Given the description of an element on the screen output the (x, y) to click on. 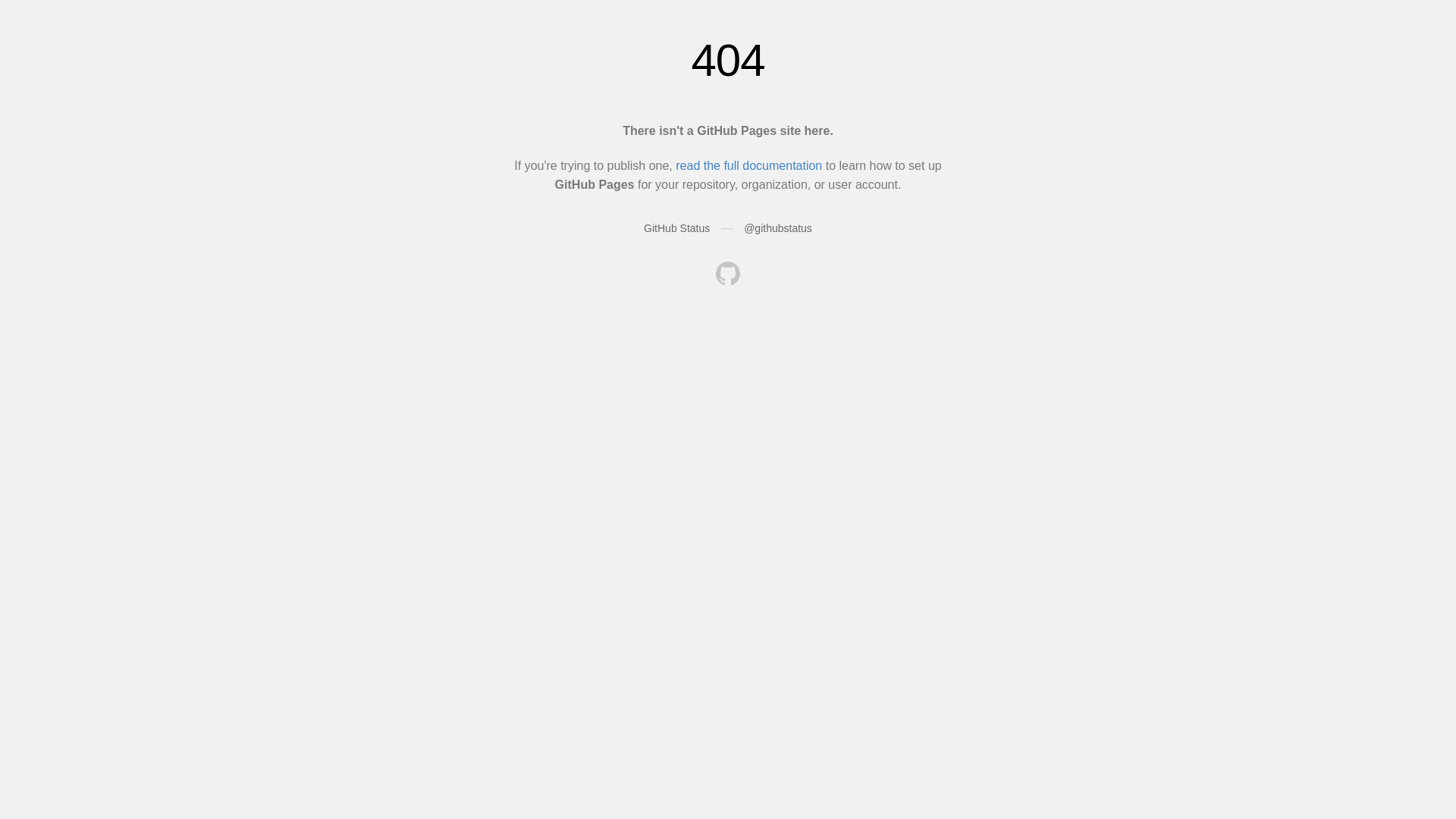
@githubstatus Element type: text (777, 228)
read the full documentation Element type: text (748, 165)
GitHub Status Element type: text (676, 228)
